Given the description of an element on the screen output the (x, y) to click on. 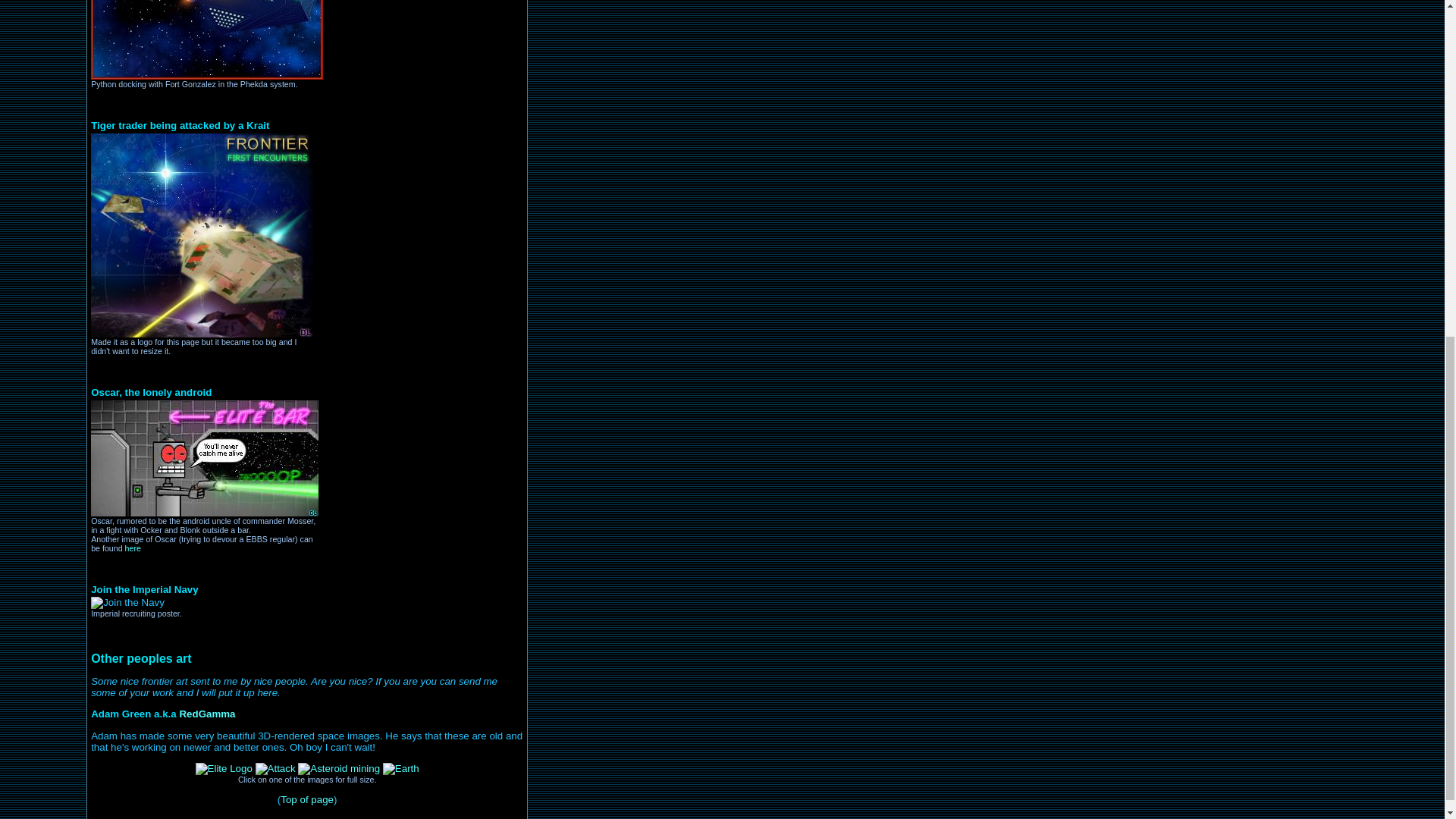
here (133, 547)
Top of page (307, 799)
RedGamma (206, 713)
